Given the description of an element on the screen output the (x, y) to click on. 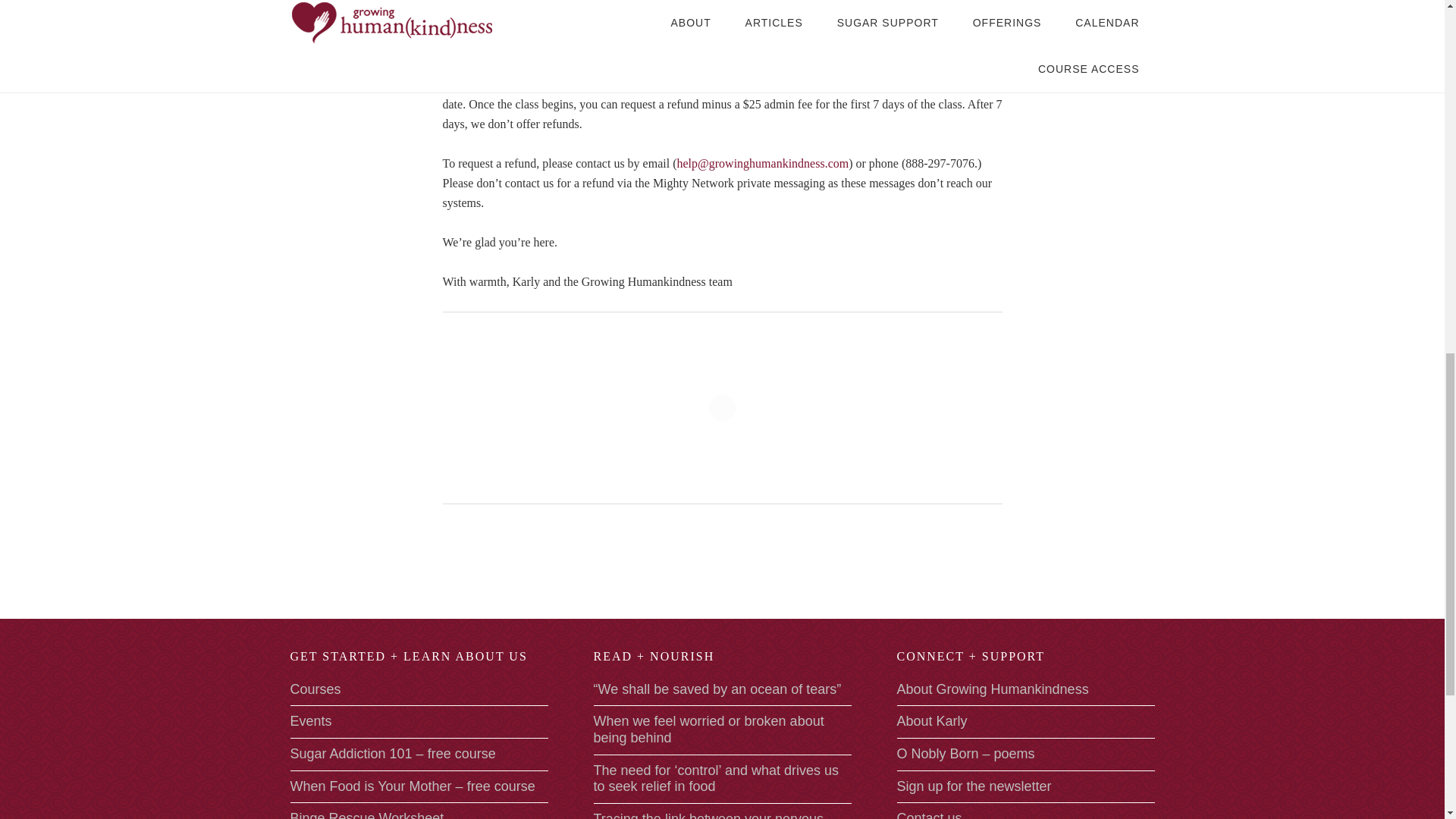
Events (310, 720)
About Karly (931, 720)
Binge Rescue Worksheet (366, 814)
Contact us (928, 814)
Courses (314, 688)
Sign up for the newsletter (973, 785)
Tracing the link between your nervous system and food (708, 815)
About Growing Humankindness (991, 688)
When we feel worried or broken about being behind (708, 729)
